Given the description of an element on the screen output the (x, y) to click on. 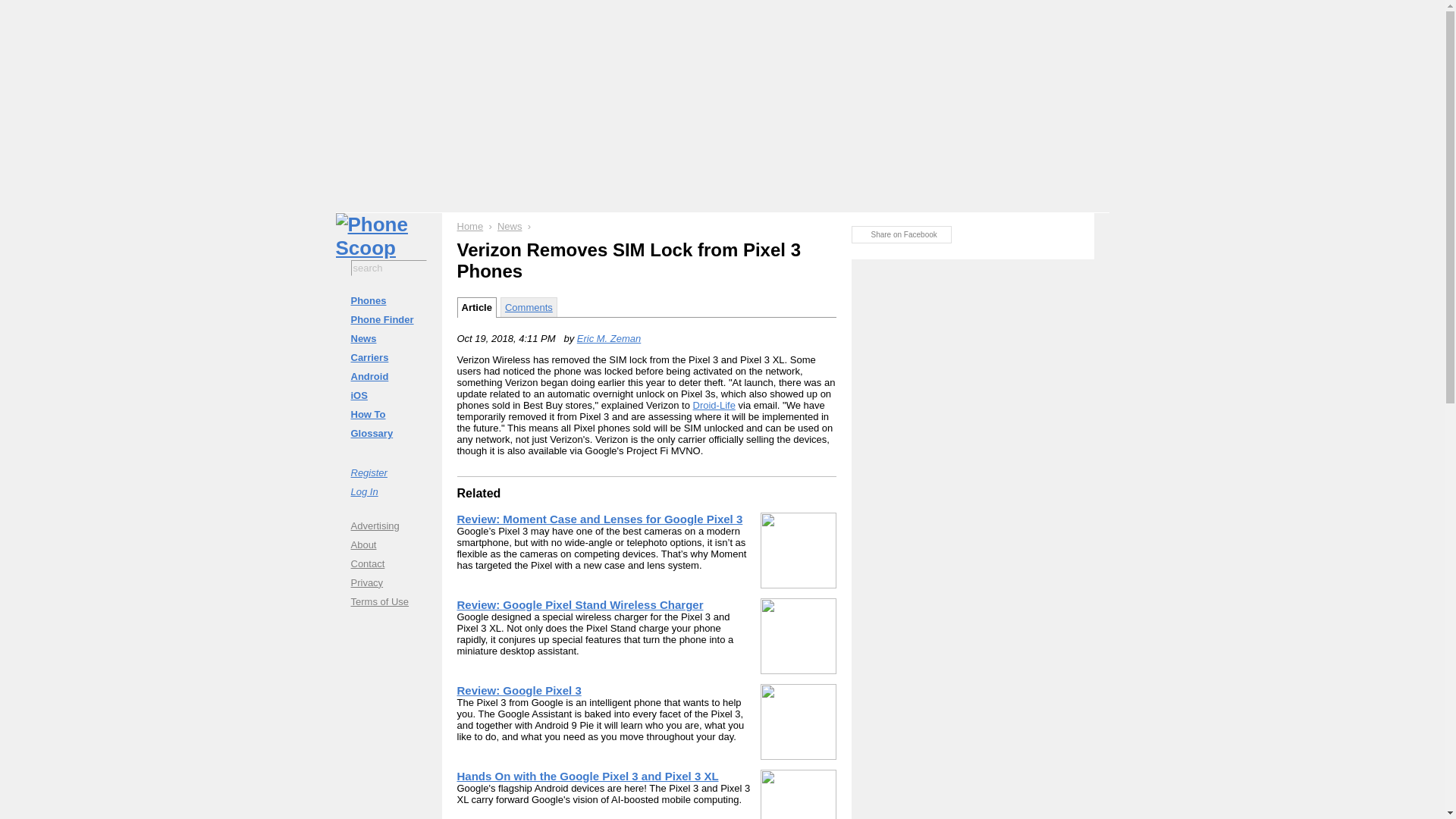
Log In (387, 491)
Share on Facebook (900, 234)
Phones (387, 300)
Home (470, 225)
News (387, 338)
Glossary (387, 433)
Terms of Use (387, 600)
Advertising (387, 524)
About (387, 544)
Related (478, 492)
Privacy (387, 582)
Droid-Life (714, 405)
